Given the description of an element on the screen output the (x, y) to click on. 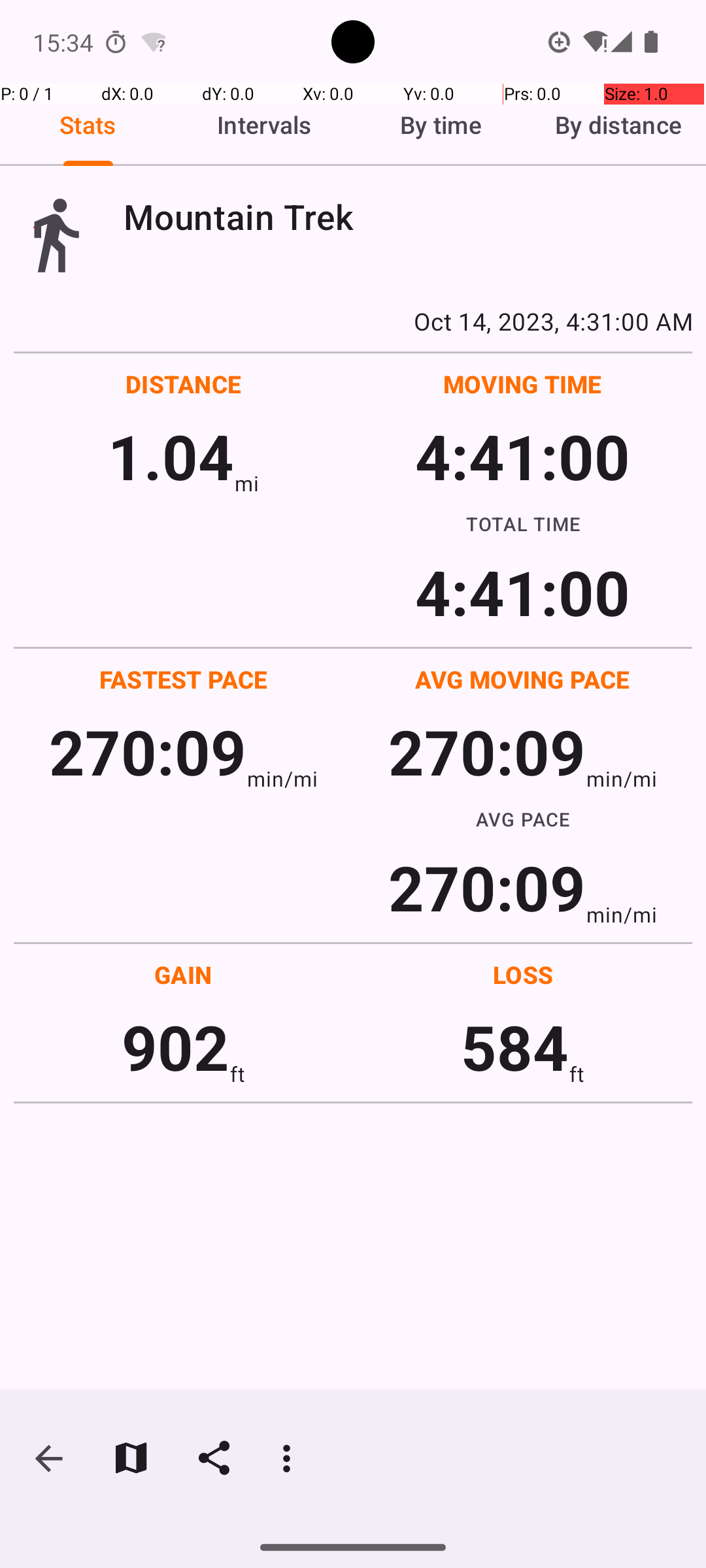
Mountain Trek Element type: android.widget.TextView (407, 216)
Oct 14, 2023, 4:31:00 AM Element type: android.widget.TextView (352, 320)
1.04 Element type: android.widget.TextView (170, 455)
4:41:00 Element type: android.widget.TextView (522, 455)
270:09 Element type: android.widget.TextView (147, 750)
902 Element type: android.widget.TextView (175, 1045)
584 Element type: android.widget.TextView (514, 1045)
